Given the description of an element on the screen output the (x, y) to click on. 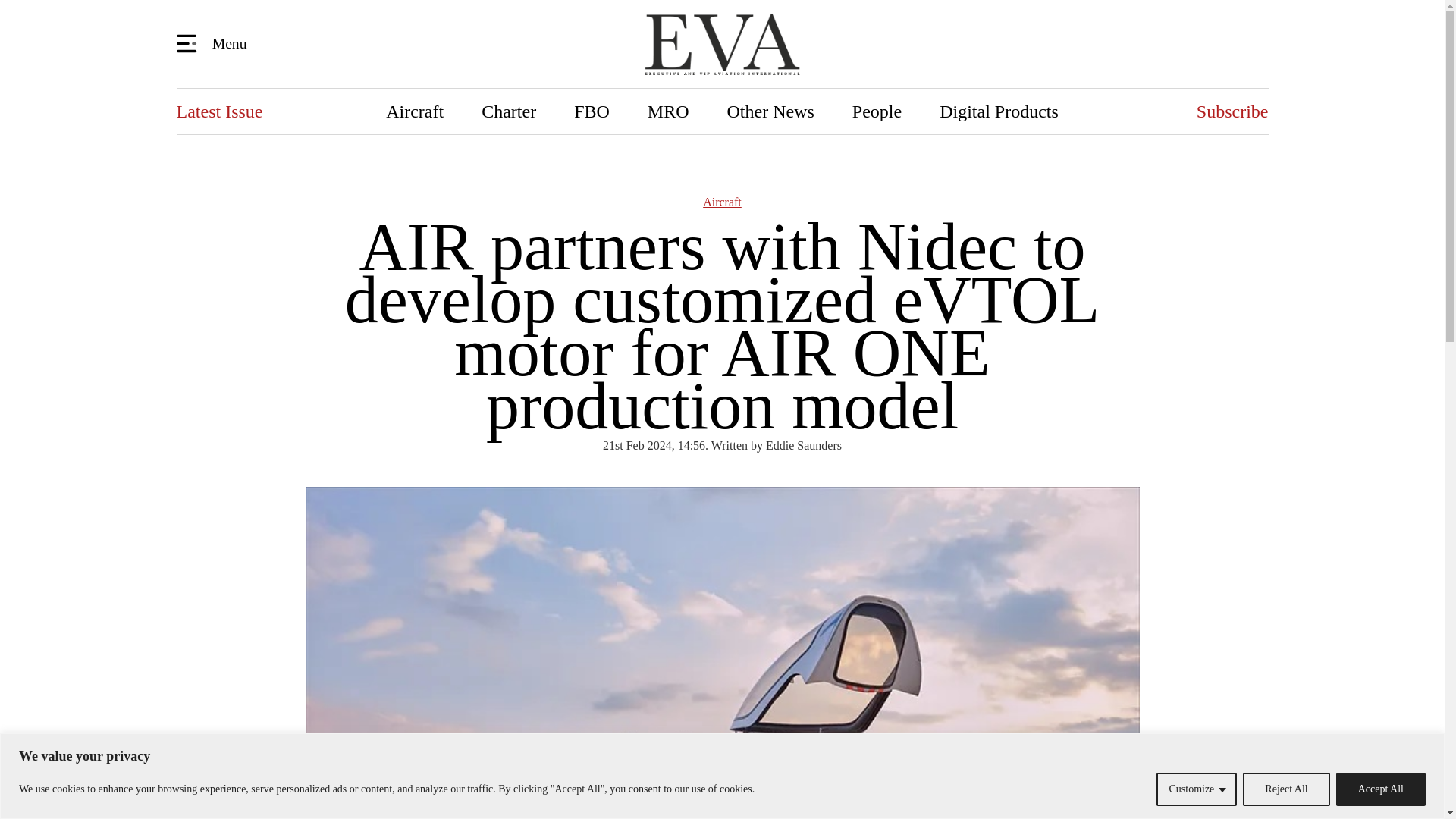
MRO (667, 111)
Menu (213, 42)
Customize (1196, 788)
Subscribe (1232, 111)
Digital Products (998, 111)
Other News (769, 111)
Aircraft (414, 111)
FBO (591, 111)
People (876, 111)
Latest Issue (219, 111)
Reject All (1286, 788)
Charter (508, 111)
Accept All (1380, 788)
